Given the description of an element on the screen output the (x, y) to click on. 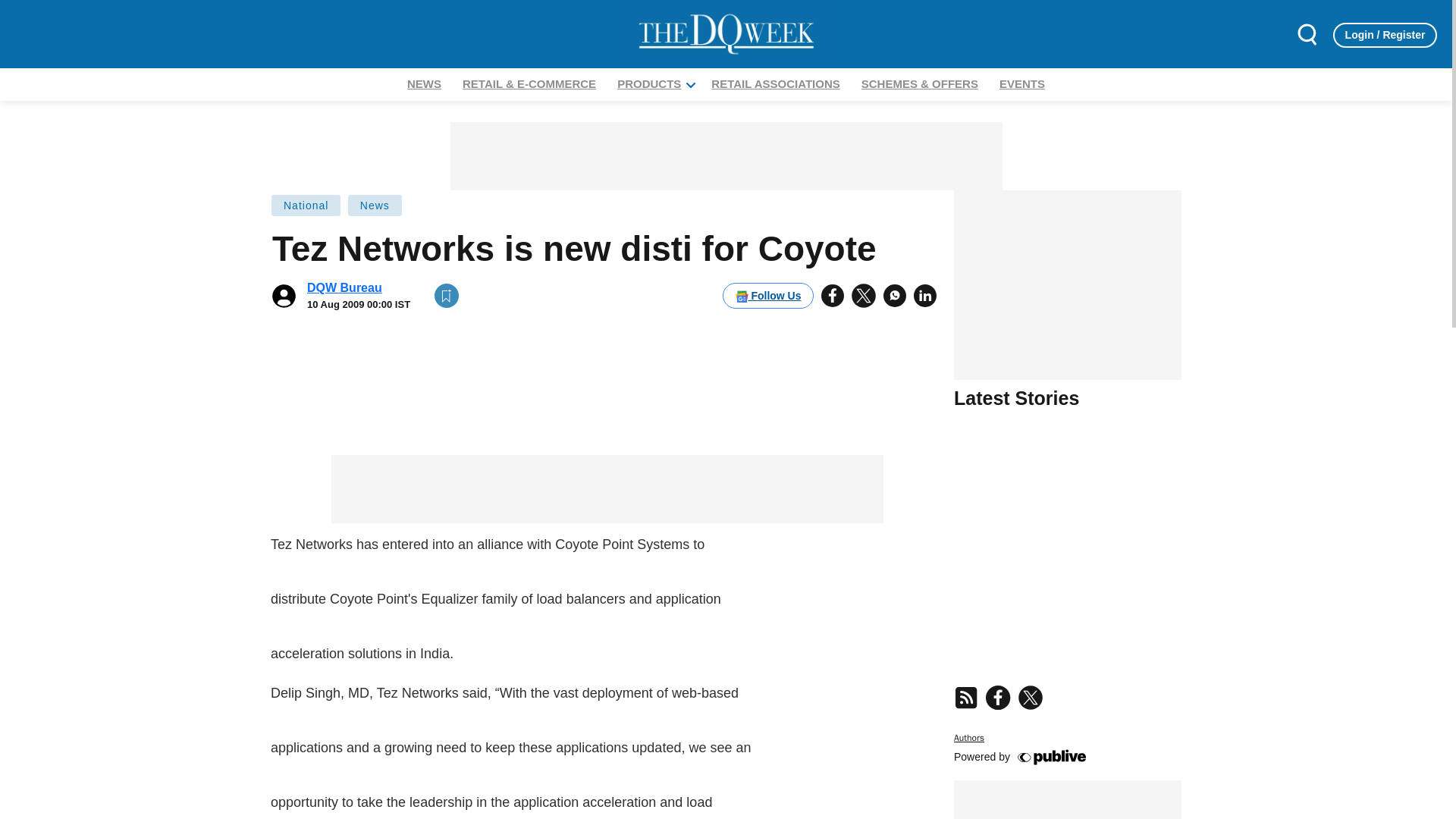
DQW Bureau (344, 287)
Authors (968, 737)
PRODUCTS (648, 83)
EVENTS (1021, 83)
NEWS (423, 83)
RETAIL ASSOCIATIONS (775, 83)
Follow Us (767, 295)
News (375, 205)
National (1066, 726)
